Given the description of an element on the screen output the (x, y) to click on. 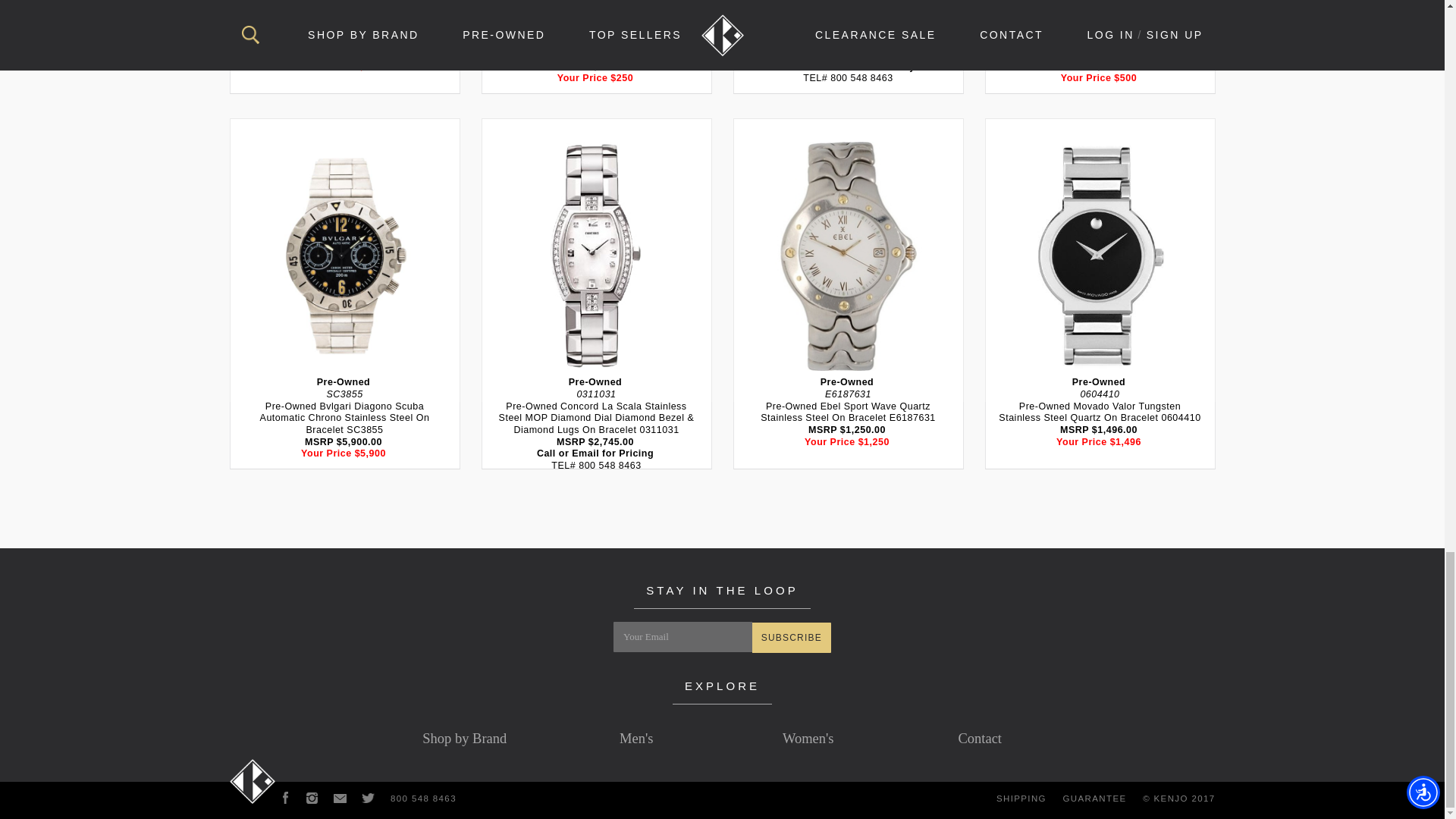
Subscribe (791, 637)
